Given the description of an element on the screen output the (x, y) to click on. 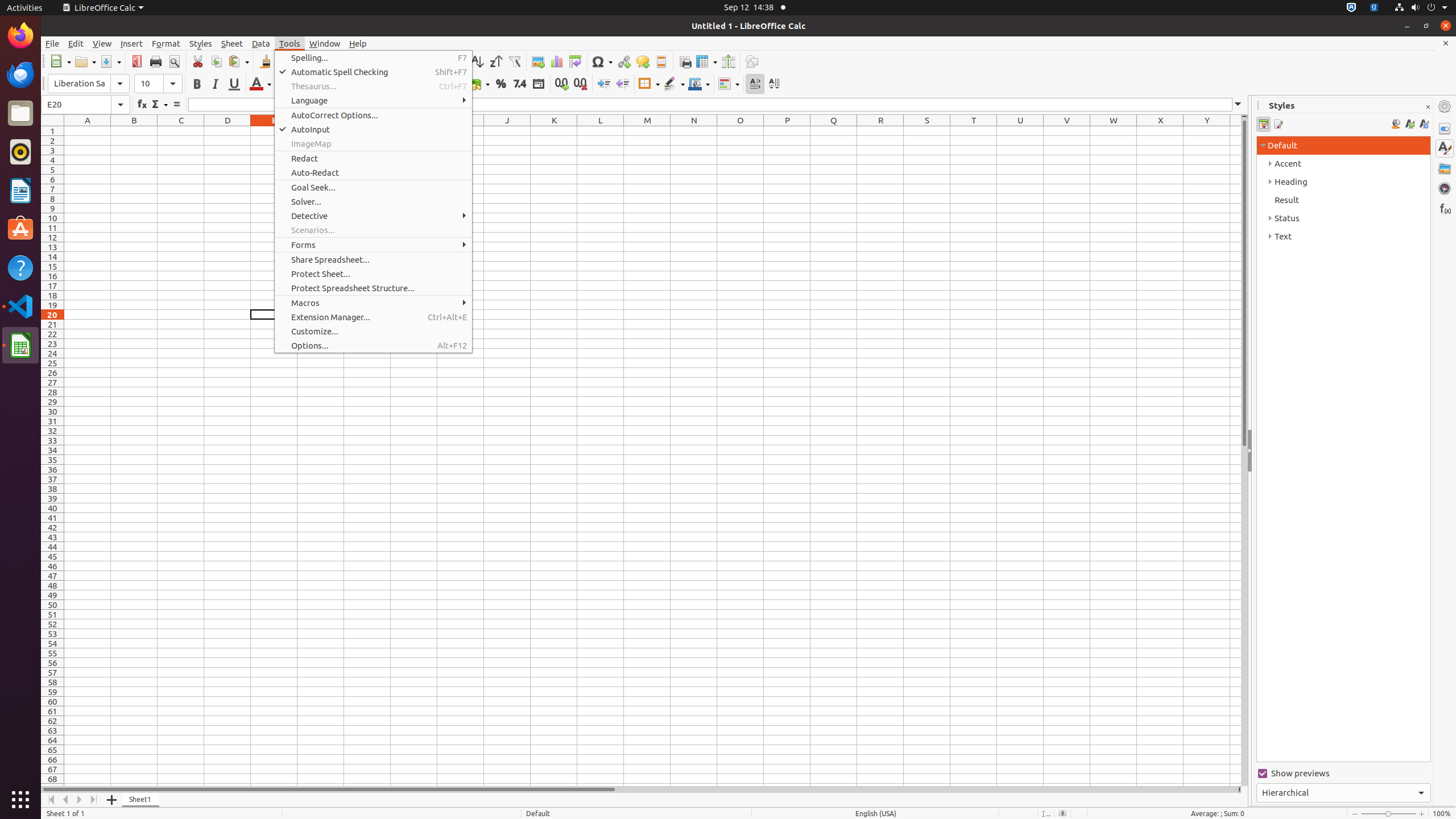
Pivot Table Element type: push-button (574, 61)
Italic Element type: toggle-button (214, 83)
Expand Formula Bar Element type: push-button (1237, 104)
Scenarios... Element type: menu-item (373, 229)
Move Right Element type: push-button (79, 799)
